Given the description of an element on the screen output the (x, y) to click on. 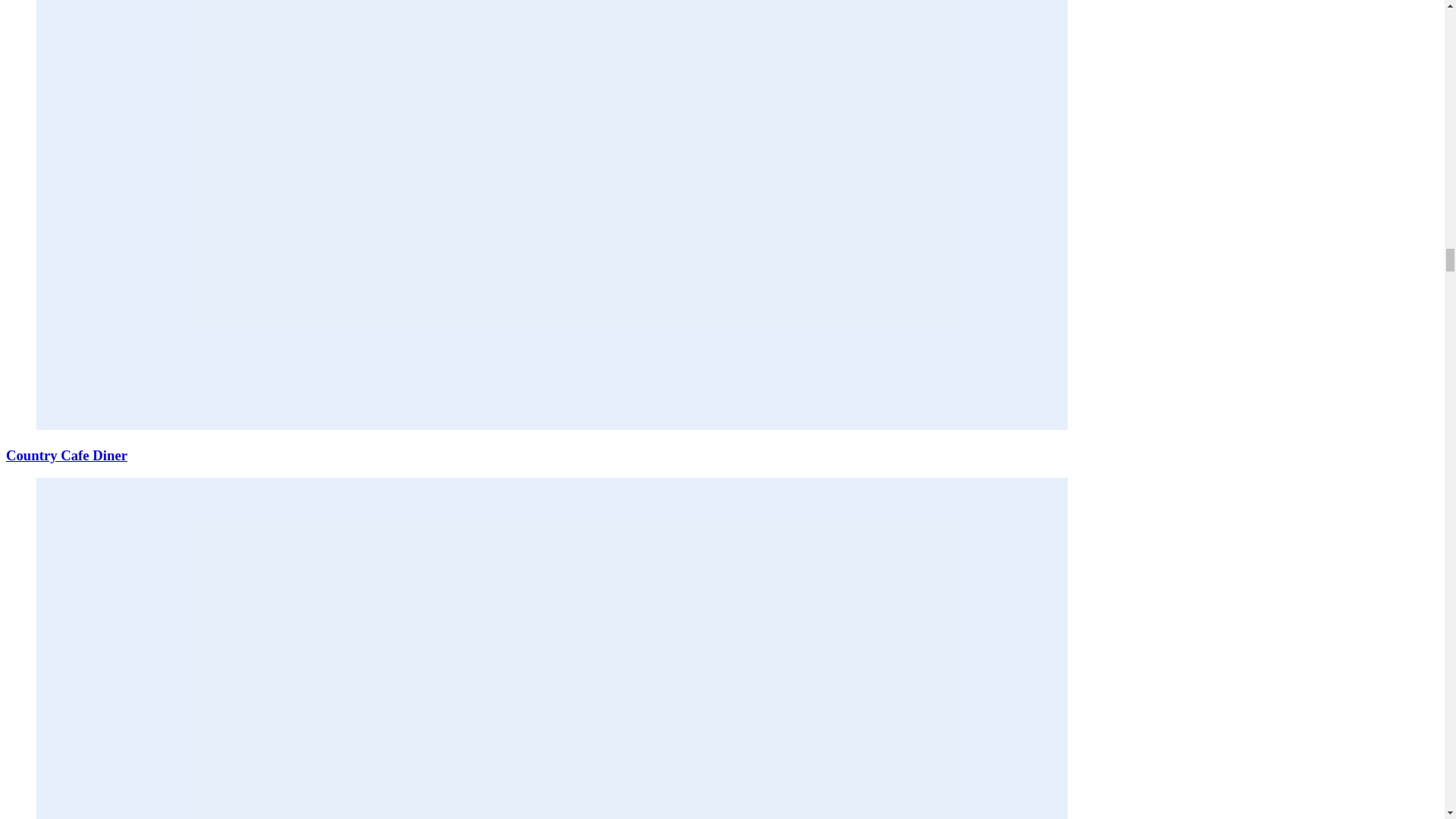
Country Cafe Diner (66, 455)
